Given the description of an element on the screen output the (x, y) to click on. 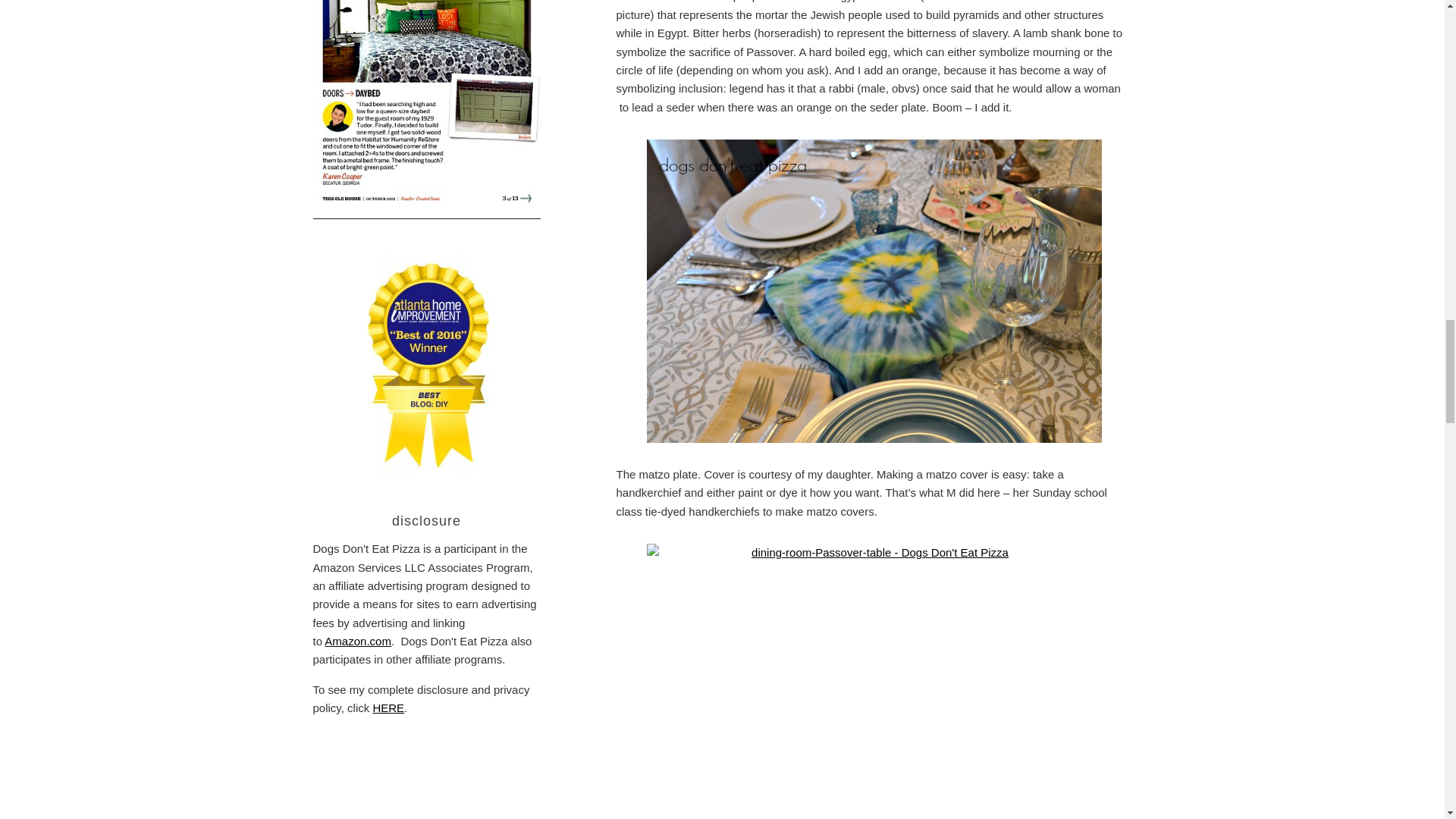
dining-room-Passover-table - Dogs Don't Eat Pizza (873, 681)
